Given the description of an element on the screen output the (x, y) to click on. 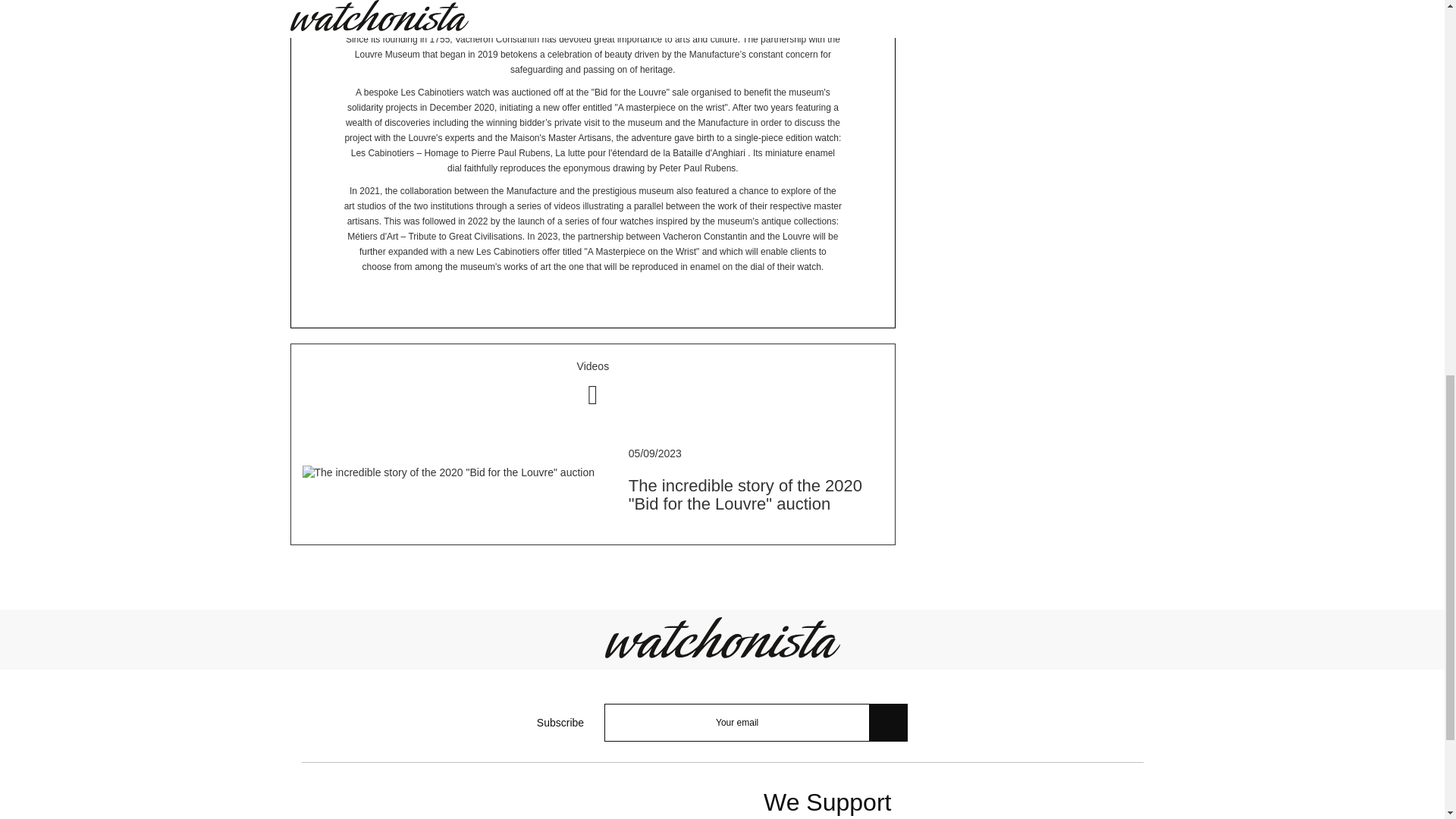
Sign up (1358, 299)
Sign up (1358, 299)
Subscribe (888, 722)
Videos (593, 383)
Subscribe (888, 722)
Boutiques (1036, 53)
Home (722, 635)
Videos (593, 383)
